Given the description of an element on the screen output the (x, y) to click on. 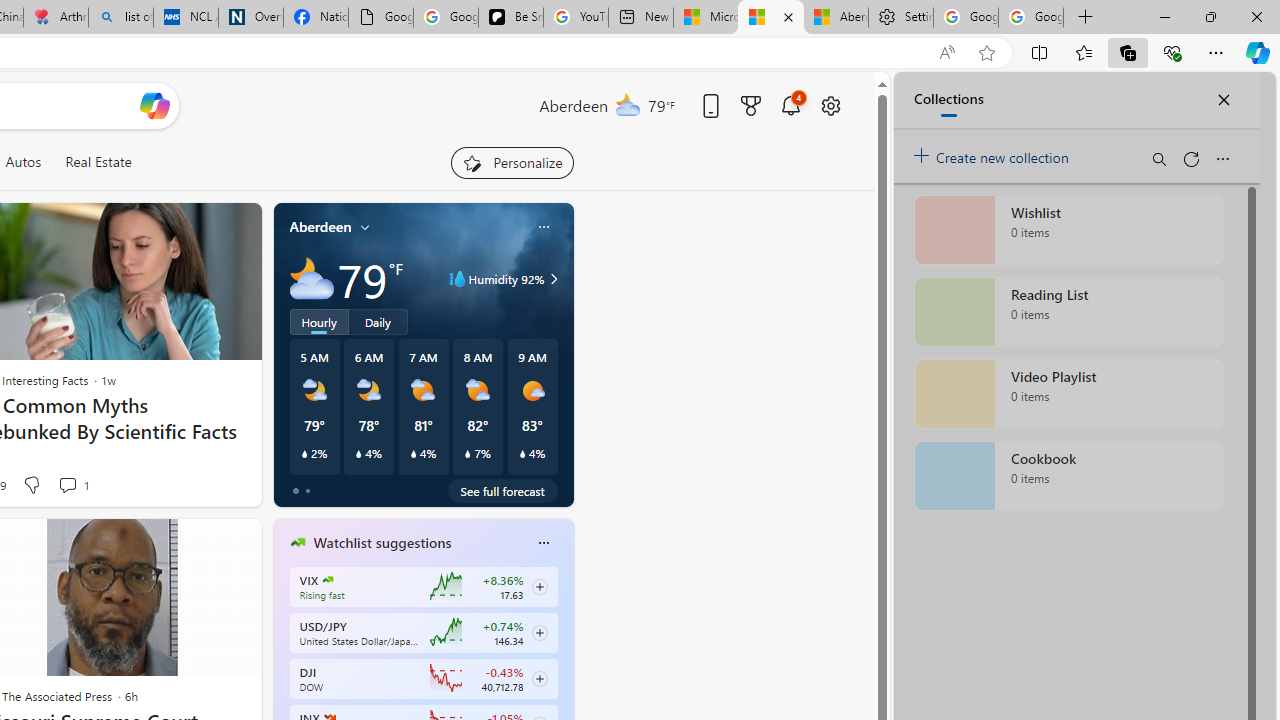
Watchlist suggestions (382, 543)
previous (283, 670)
Google Analytics Opt-out Browser Add-on Download Page (381, 17)
See full forecast (502, 490)
